Given the description of an element on the screen output the (x, y) to click on. 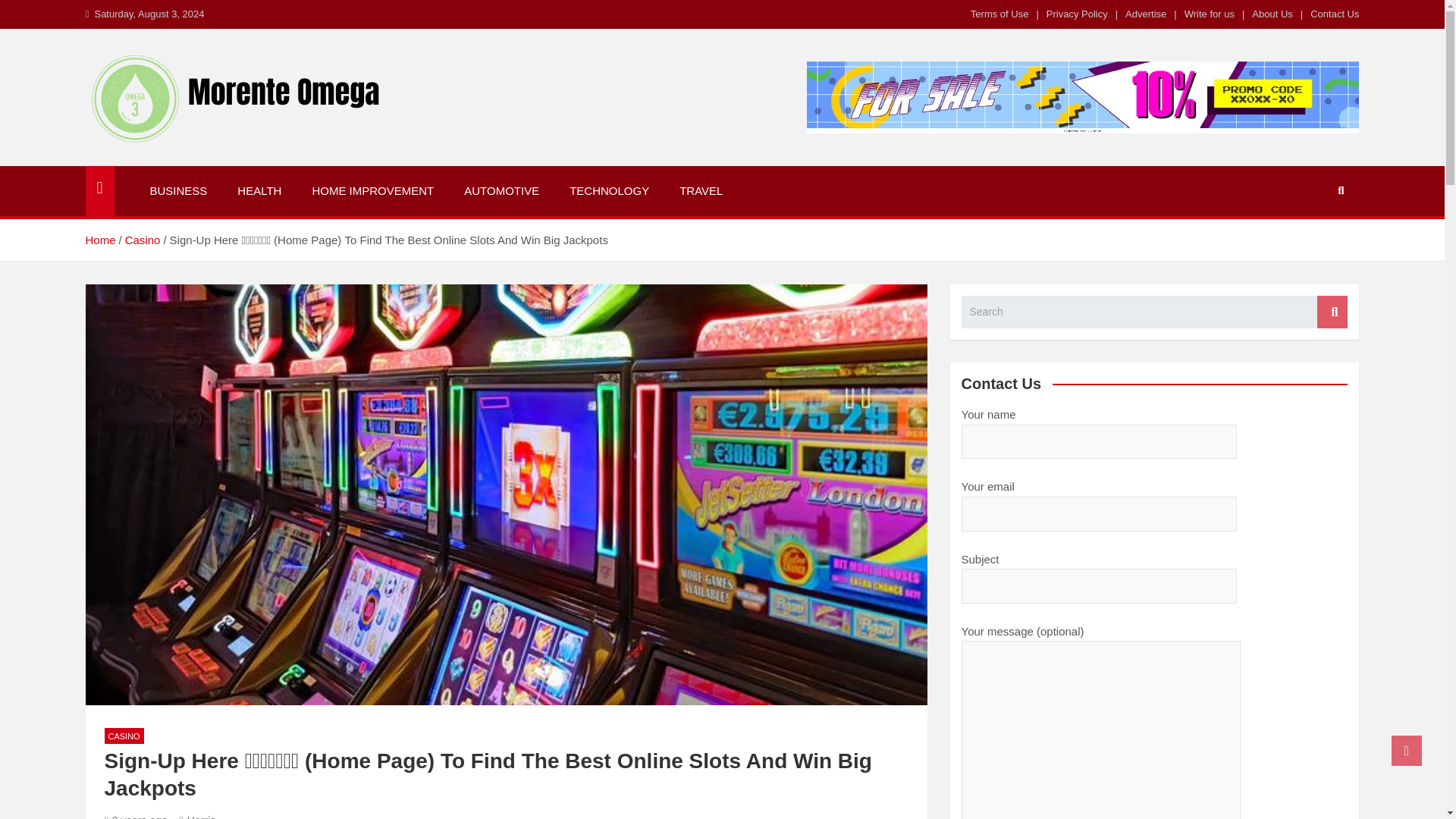
Advertise (1145, 13)
Home (99, 239)
Search (1332, 311)
BUSINESS (178, 191)
Contact Us (1334, 13)
HEALTH (259, 191)
Terms of Use (1000, 13)
Casino (142, 239)
TECHNOLOGY (608, 191)
Harris (197, 816)
AUTOMOTIVE (501, 191)
2 years ago (135, 816)
CASINO (124, 735)
TRAVEL (700, 191)
Privacy Policy (1077, 13)
